Given the description of an element on the screen output the (x, y) to click on. 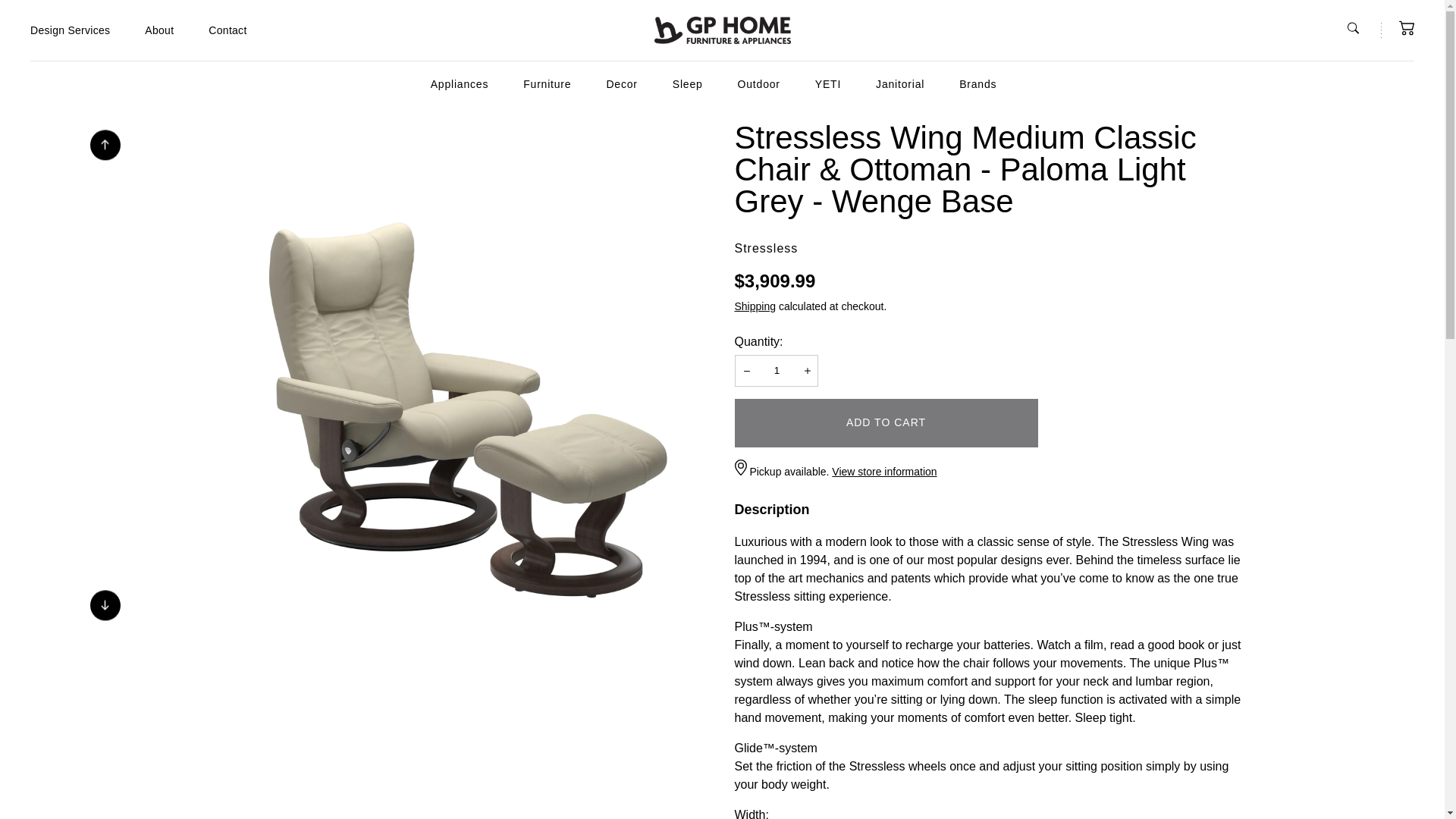
Cart (1406, 28)
Design Services (70, 30)
SKIP TO CONTENT (66, 24)
1 (776, 369)
Stressless (765, 248)
